Given the description of an element on the screen output the (x, y) to click on. 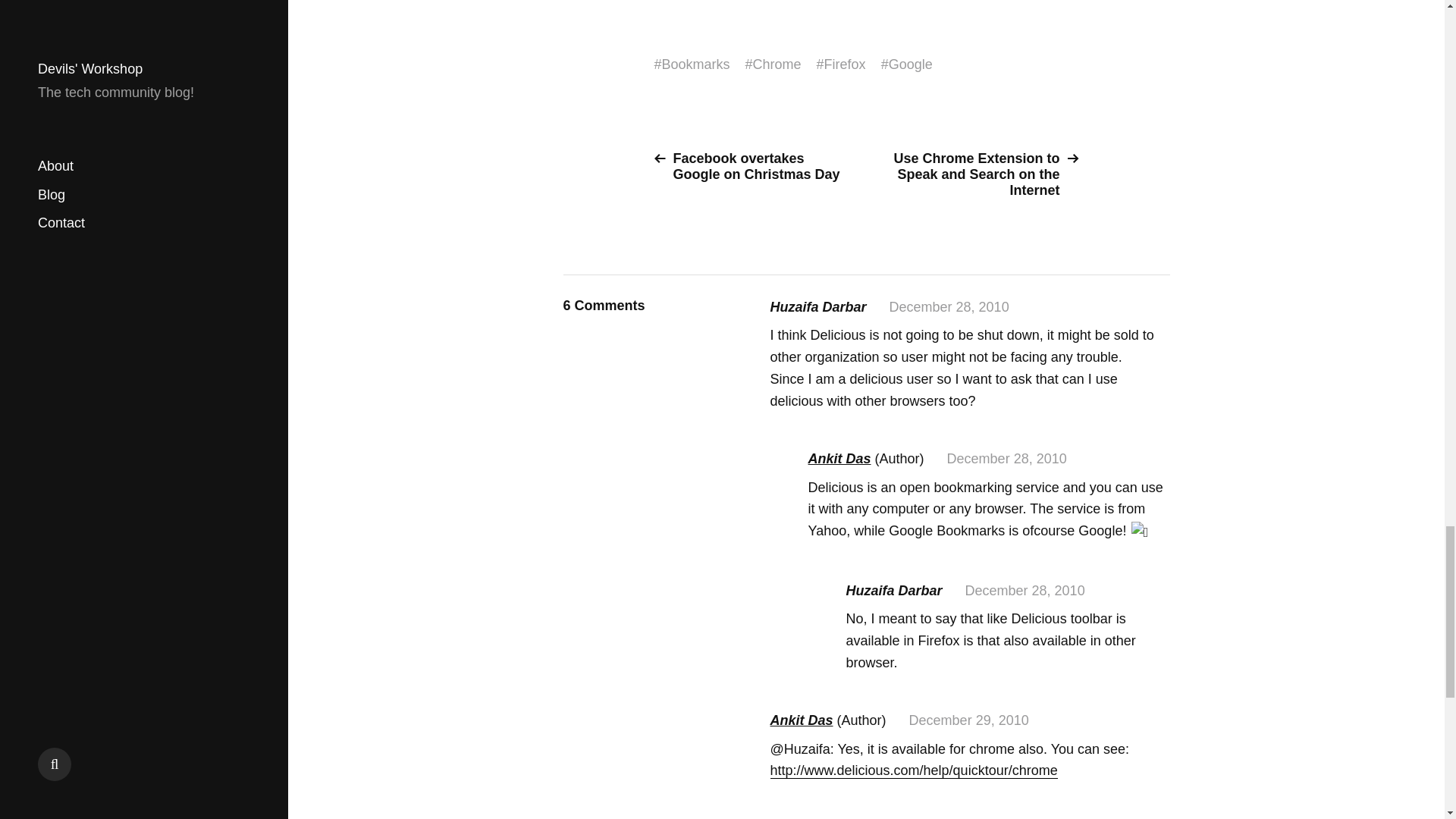
Ankit Das (839, 458)
December 28, 2010 (1024, 590)
Facebook overtakes Google on Christmas Day (753, 166)
Bookmarks (696, 64)
Ankit Das (801, 720)
December 29, 2010 (968, 720)
December 29, 2010 at 12:40 pm (968, 720)
December 28, 2010 at 7:12 pm (1007, 458)
Google (910, 64)
December 28, 2010 (1007, 458)
